Given the description of an element on the screen output the (x, y) to click on. 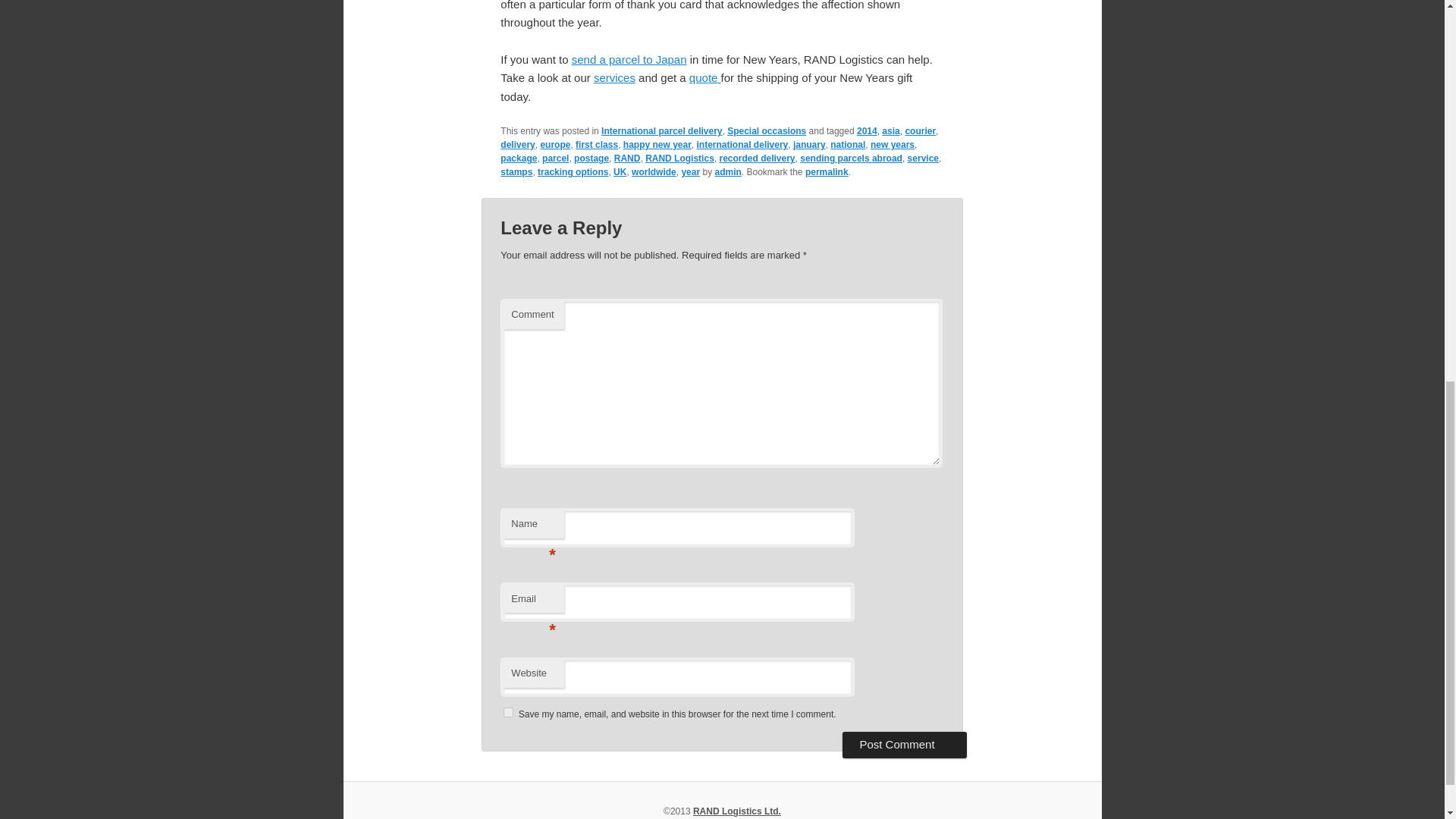
service (923, 158)
Special occasions (766, 131)
courier (920, 131)
national (846, 144)
happy new year (657, 144)
services (614, 77)
send a parcel to Japan (629, 59)
postage (590, 158)
january (809, 144)
tracking options (572, 172)
